Given the description of an element on the screen output the (x, y) to click on. 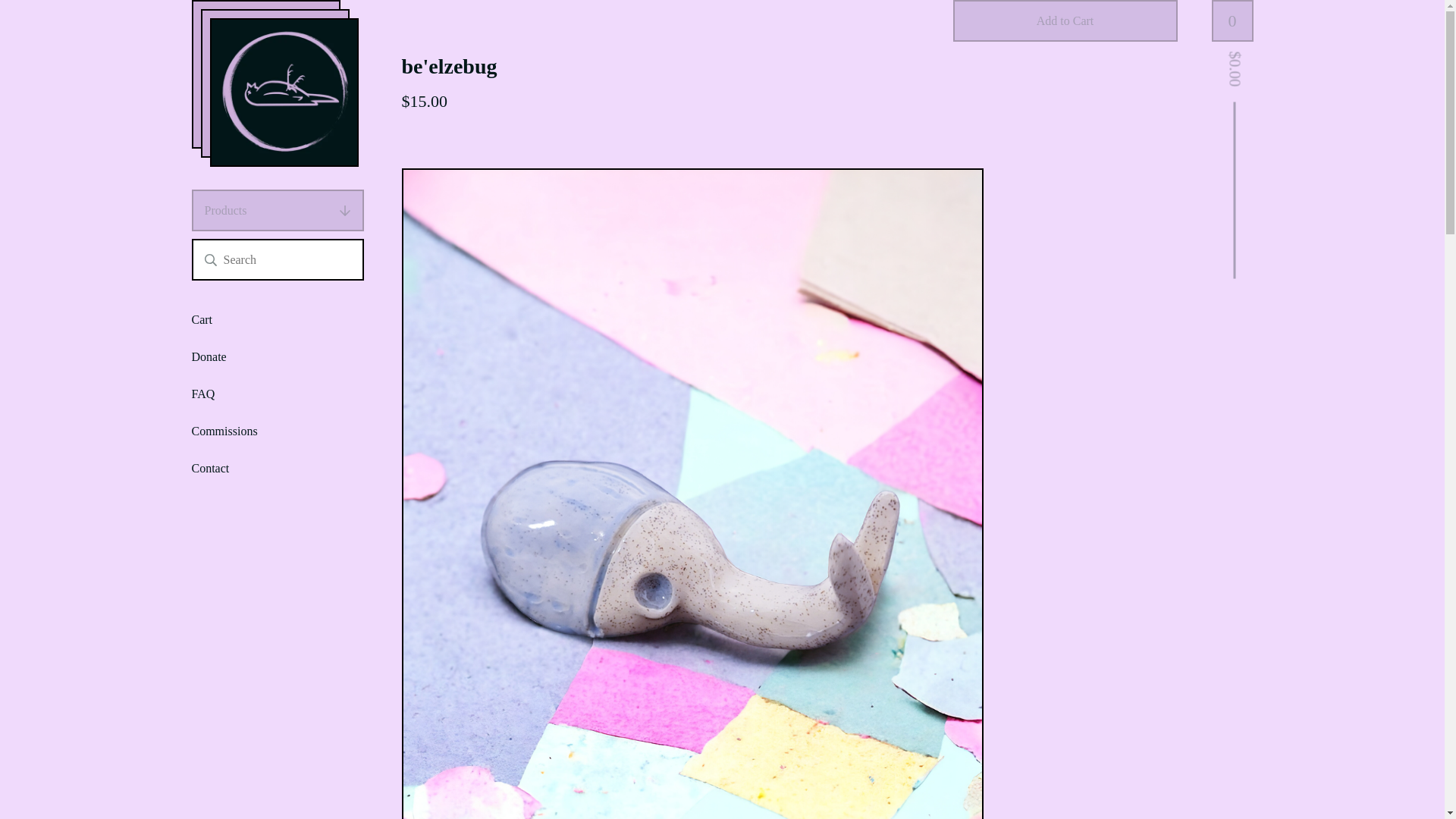
View Commissions (223, 430)
Products (276, 209)
Add to Cart (1064, 20)
Cart (201, 319)
FAQ (202, 393)
Contact (209, 467)
MorbidArtisan (283, 92)
View FAQ (202, 393)
Donate (207, 356)
Contact (209, 467)
Add to Cart (1064, 20)
Cart (201, 319)
View Donate (207, 356)
Commissions (223, 430)
